Given the description of an element on the screen output the (x, y) to click on. 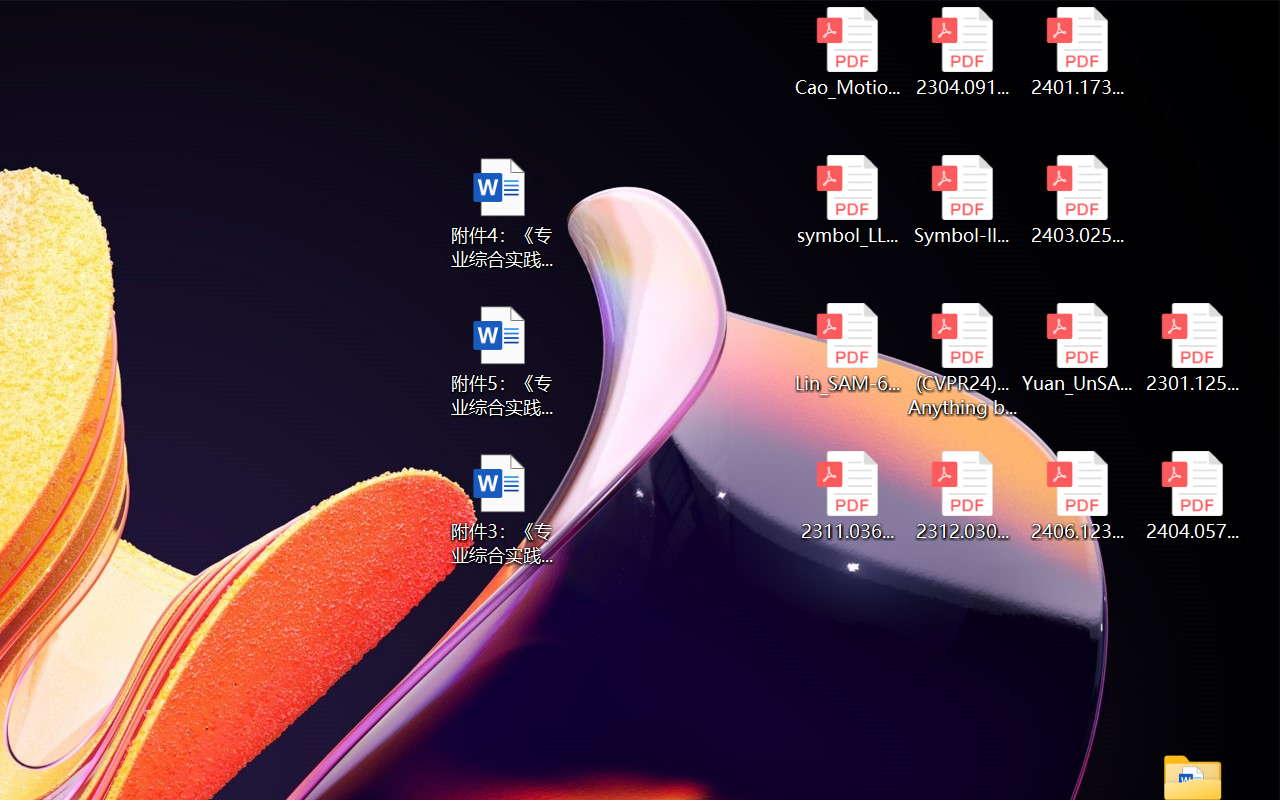
2301.12597v3.pdf (1192, 348)
(CVPR24)Matching Anything by Segmenting Anything.pdf (962, 360)
